Given the description of an element on the screen output the (x, y) to click on. 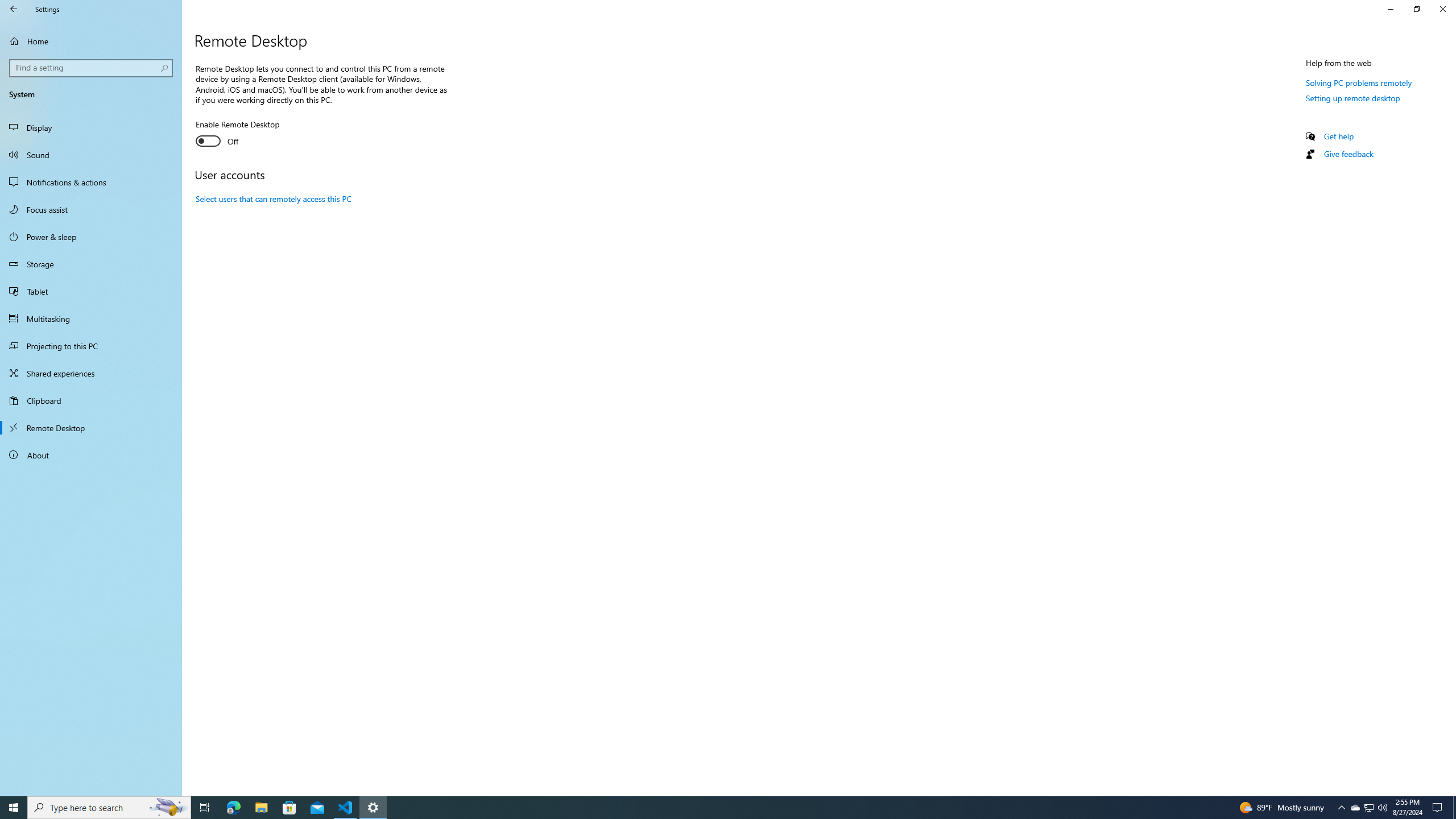
Restore Settings (1416, 9)
Tablet (91, 290)
Shared experiences (91, 372)
Setting up remote desktop (1353, 97)
Sound (91, 154)
Notifications & actions (91, 181)
About (91, 454)
Power & sleep (91, 236)
Focus assist (91, 208)
